Given the description of an element on the screen output the (x, y) to click on. 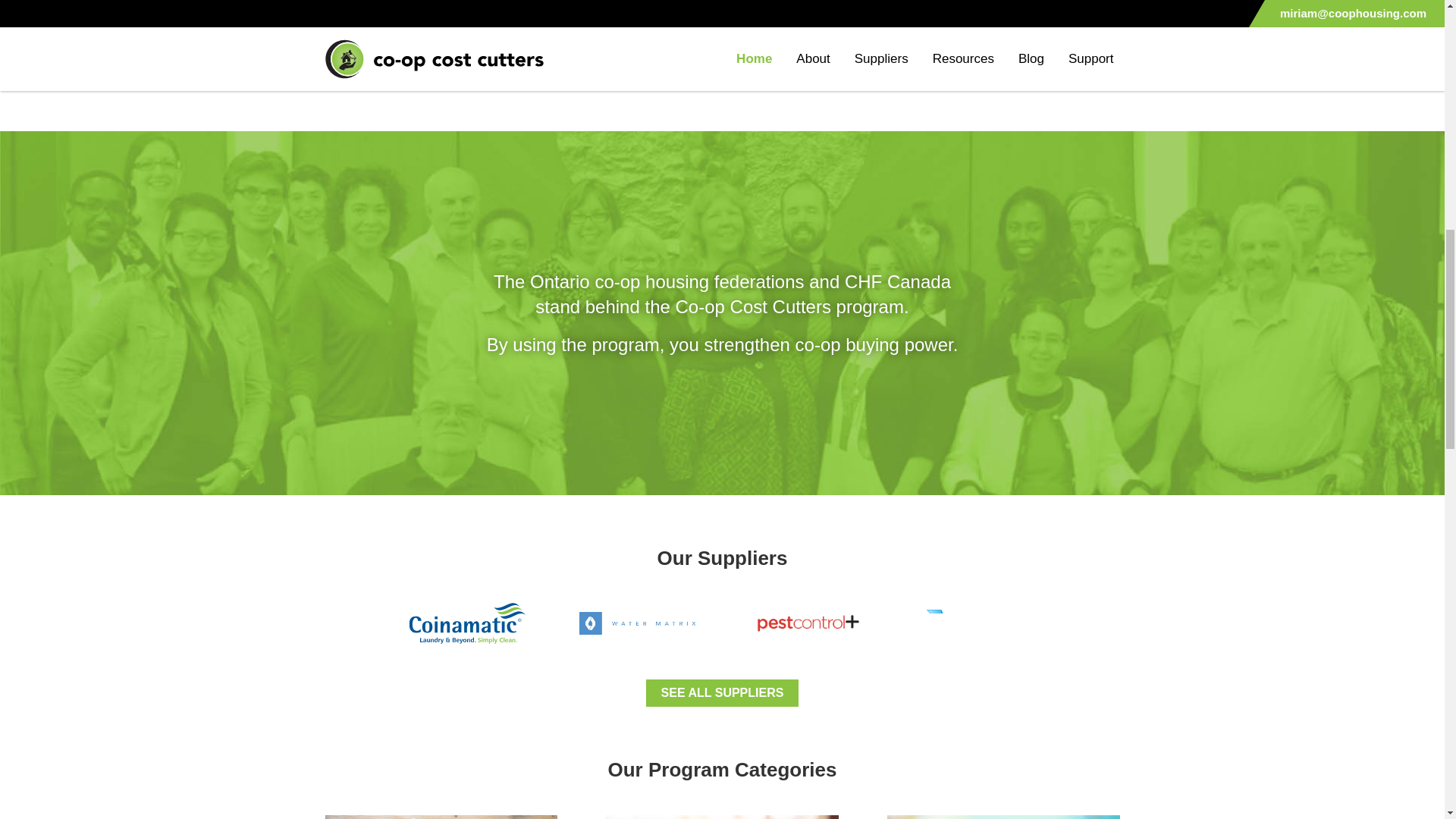
SEE ALL SUPPLIERS (722, 692)
Search (929, 43)
Search (929, 43)
Water Matrix (636, 622)
CHF Canada - Unfederated (1077, 6)
YouTube video player (510, 22)
NewViews for Non-Profit Housing (976, 622)
contact us (805, 69)
Coinamatic (466, 622)
Pest Control Plus (806, 622)
